Given the description of an element on the screen output the (x, y) to click on. 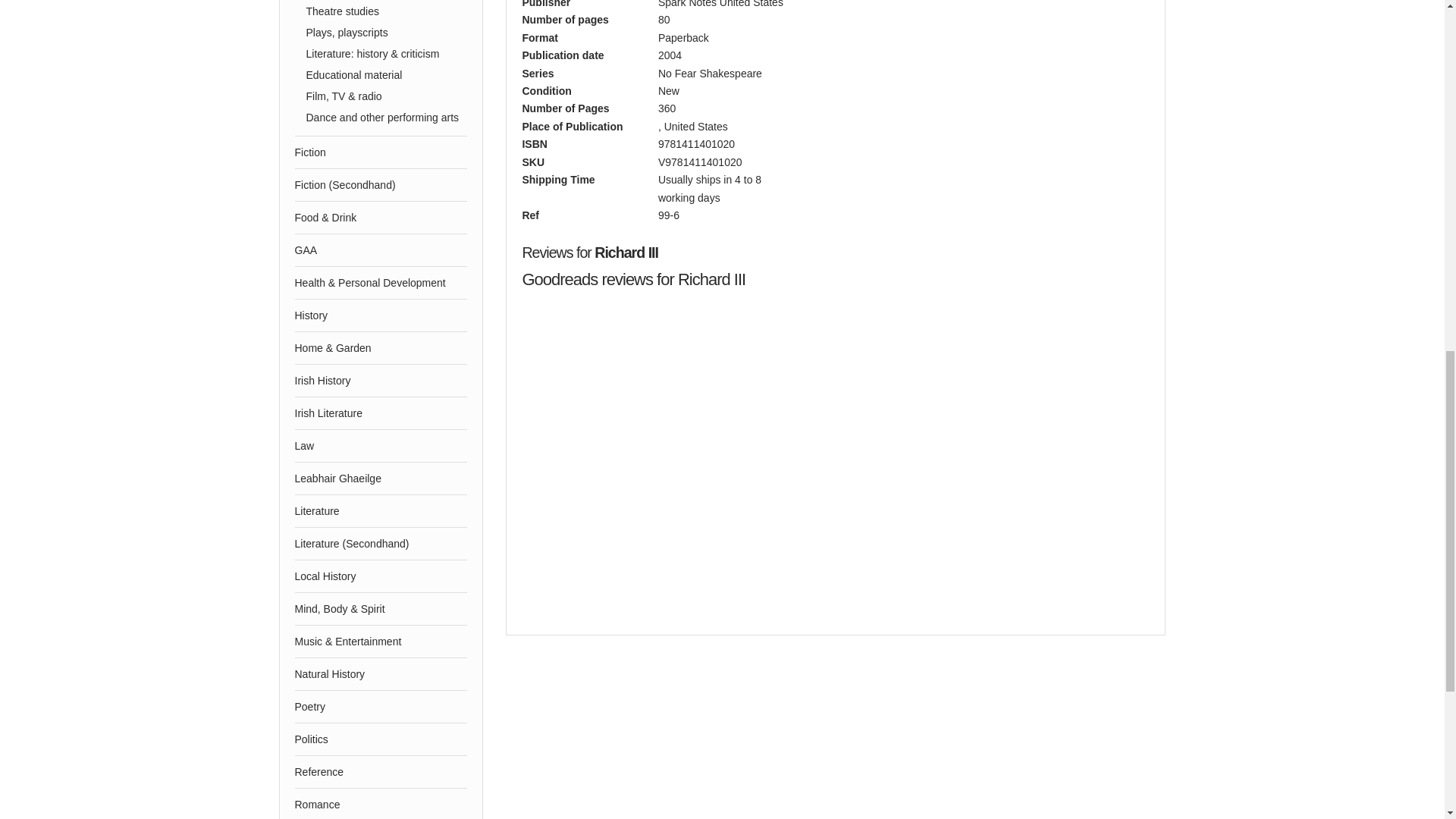
Educational material (386, 74)
Fiction (380, 152)
Plays, playscripts (386, 32)
Dance and other performing arts (386, 117)
Theatre studies (386, 11)
